Given the description of an element on the screen output the (x, y) to click on. 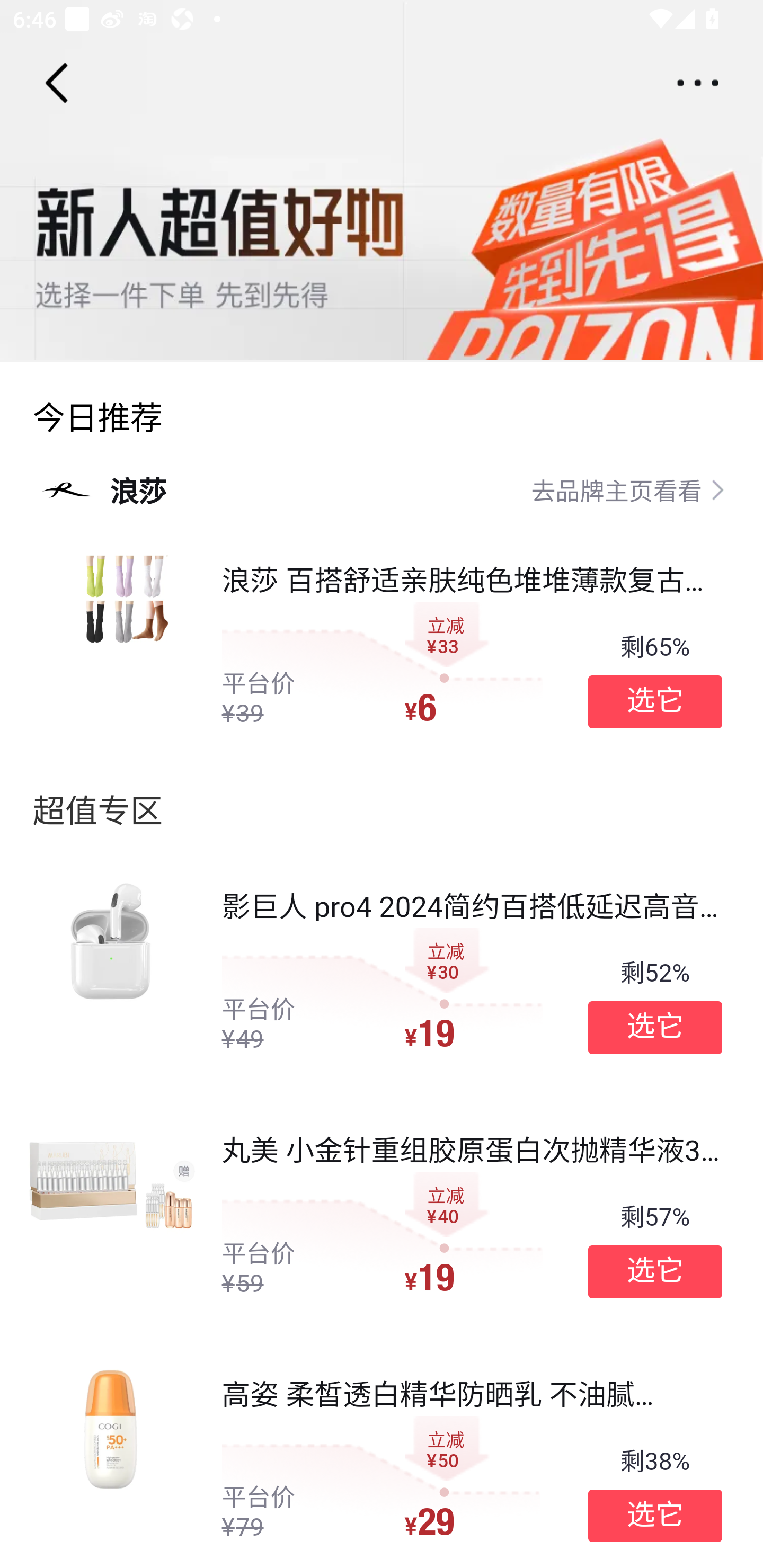
浪莎去品牌主页看看 (381, 489)
选它 (654, 701)
选它 (654, 1027)
选它 (654, 1271)
选它 (654, 1515)
